Given the description of an element on the screen output the (x, y) to click on. 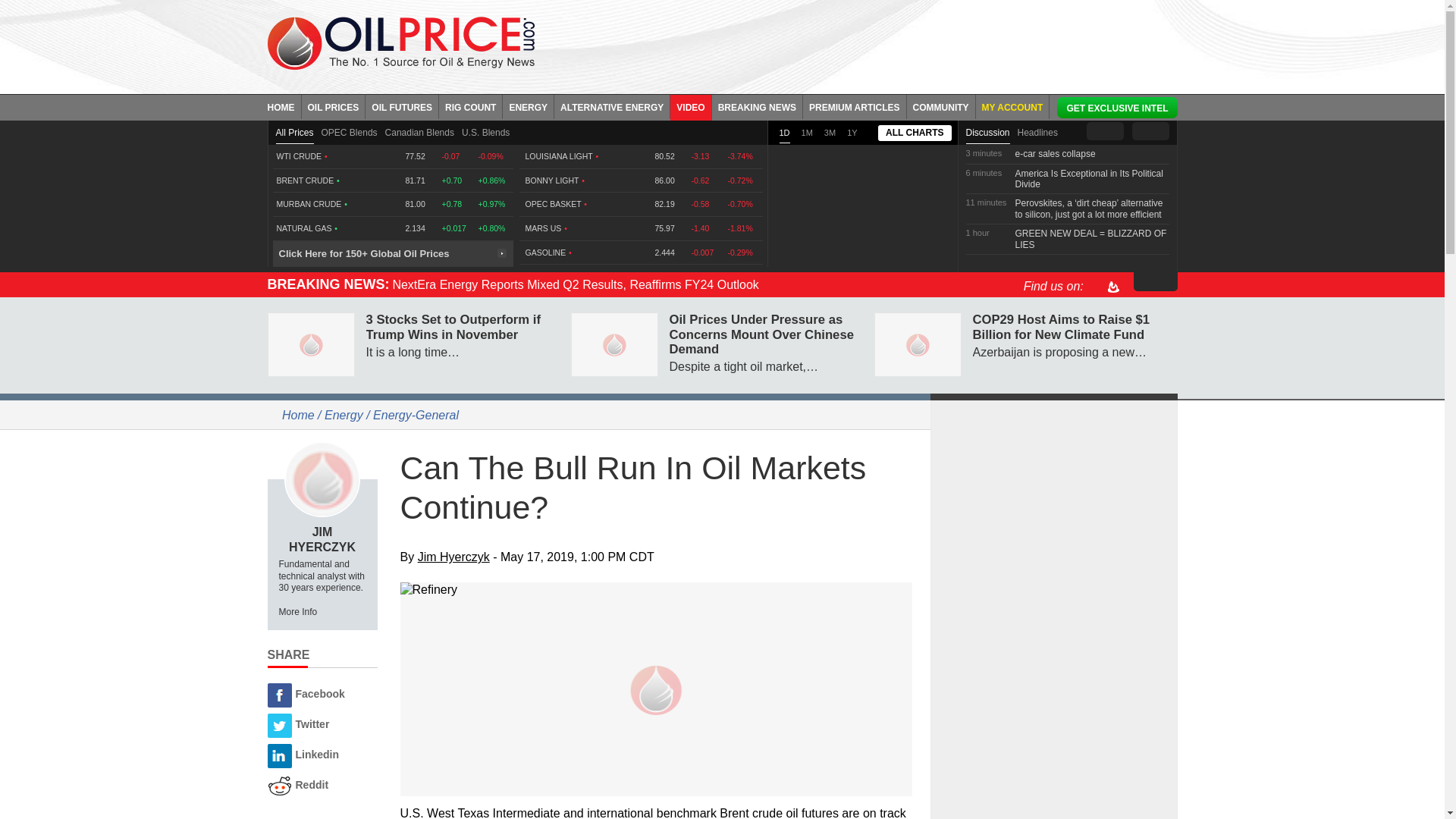
OIL FUTURES (402, 106)
MY ACCOUNT (1012, 106)
VIDEO (690, 106)
ENERGY (528, 106)
Oil prices - Oilprice.com (400, 42)
ALTERNATIVE ENERGY (611, 106)
Jim Hyerczyk (321, 478)
COMMUNITY (941, 106)
HOME (283, 106)
RIG COUNT (470, 106)
OIL PRICES (333, 106)
Refinery (656, 589)
PREMIUM ARTICLES (855, 106)
BREAKING NEWS (757, 106)
